Given the description of an element on the screen output the (x, y) to click on. 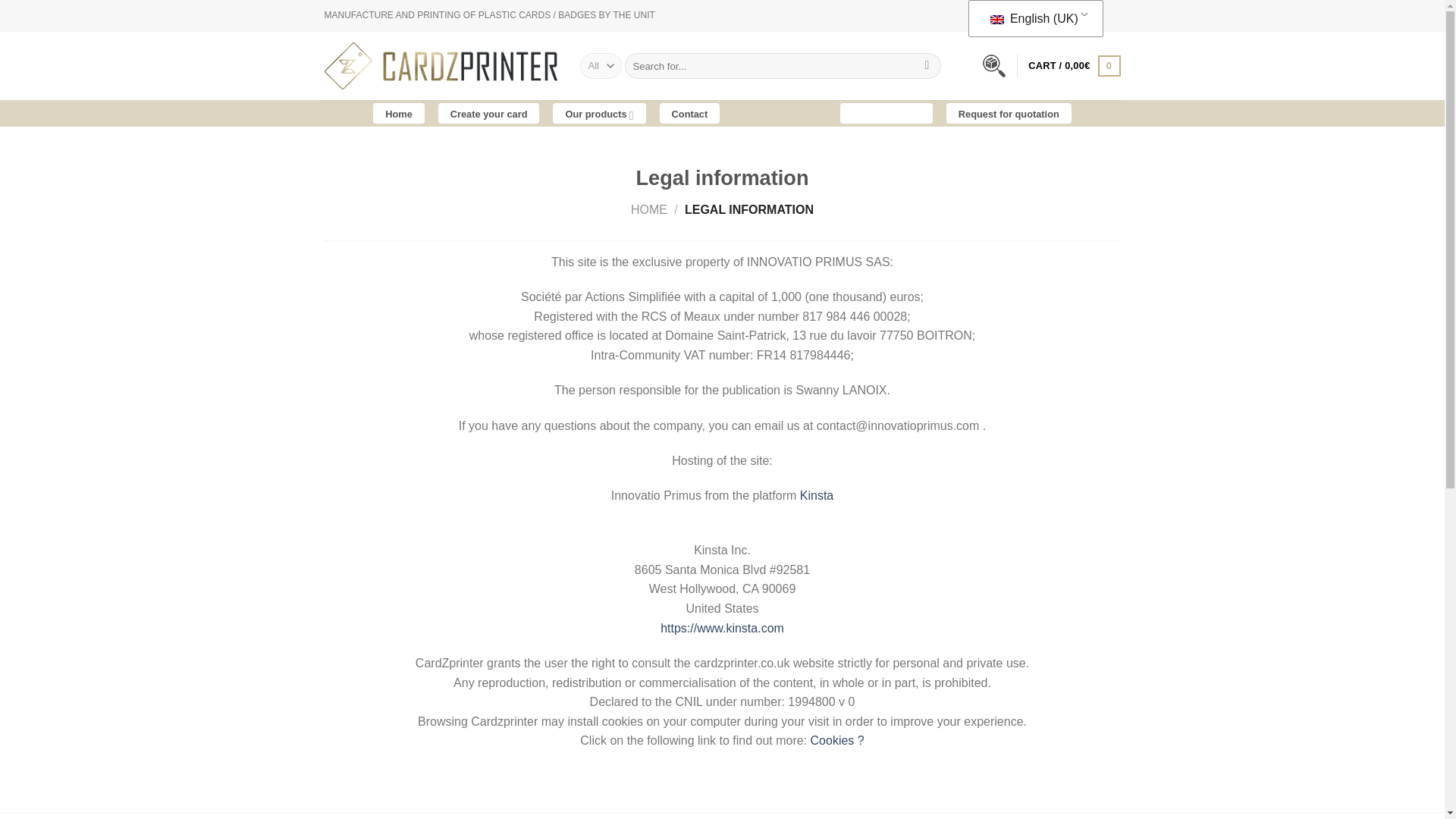
Customer area (886, 113)
Contact (689, 113)
Cookies ? (837, 739)
Create your card (489, 113)
Our products (599, 113)
Cart (1073, 65)
Kinsta (815, 495)
Request for quotation (1008, 113)
HOME (648, 209)
Home (398, 113)
